Given the description of an element on the screen output the (x, y) to click on. 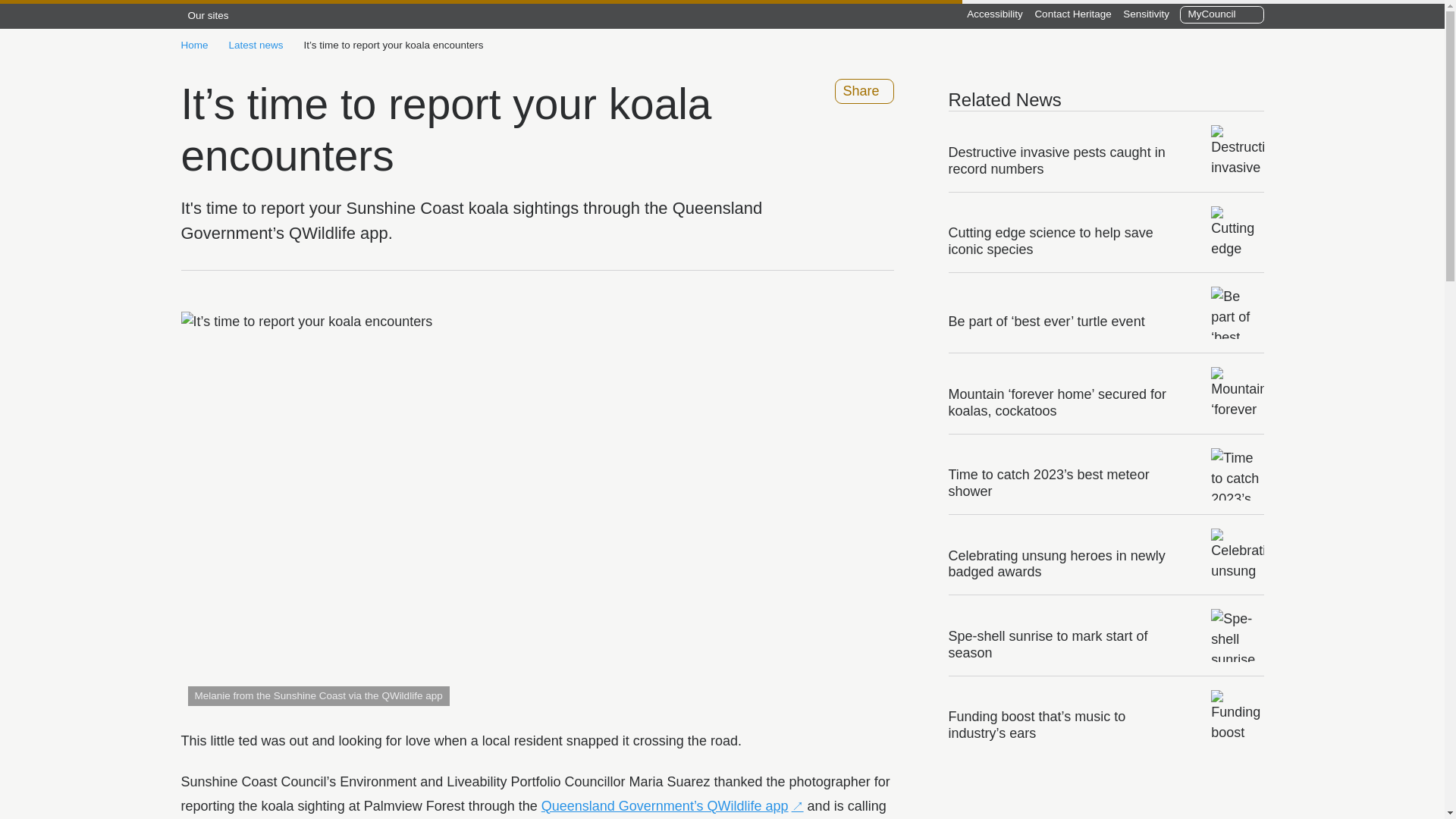
Sensitivity (1146, 14)
Destructive invasive pests caught in record numbers (1065, 157)
Celebrating unsung heroes in newly badged awards (1065, 560)
Destructive invasive pests caught in record numbers (1065, 157)
Share (863, 91)
Home (194, 45)
MyCouncil (1221, 14)
Accessibility (994, 14)
Cutting edge science to help save iconic species (1065, 237)
Spe-shell sunrise to mark start of season (1065, 640)
